Given the description of an element on the screen output the (x, y) to click on. 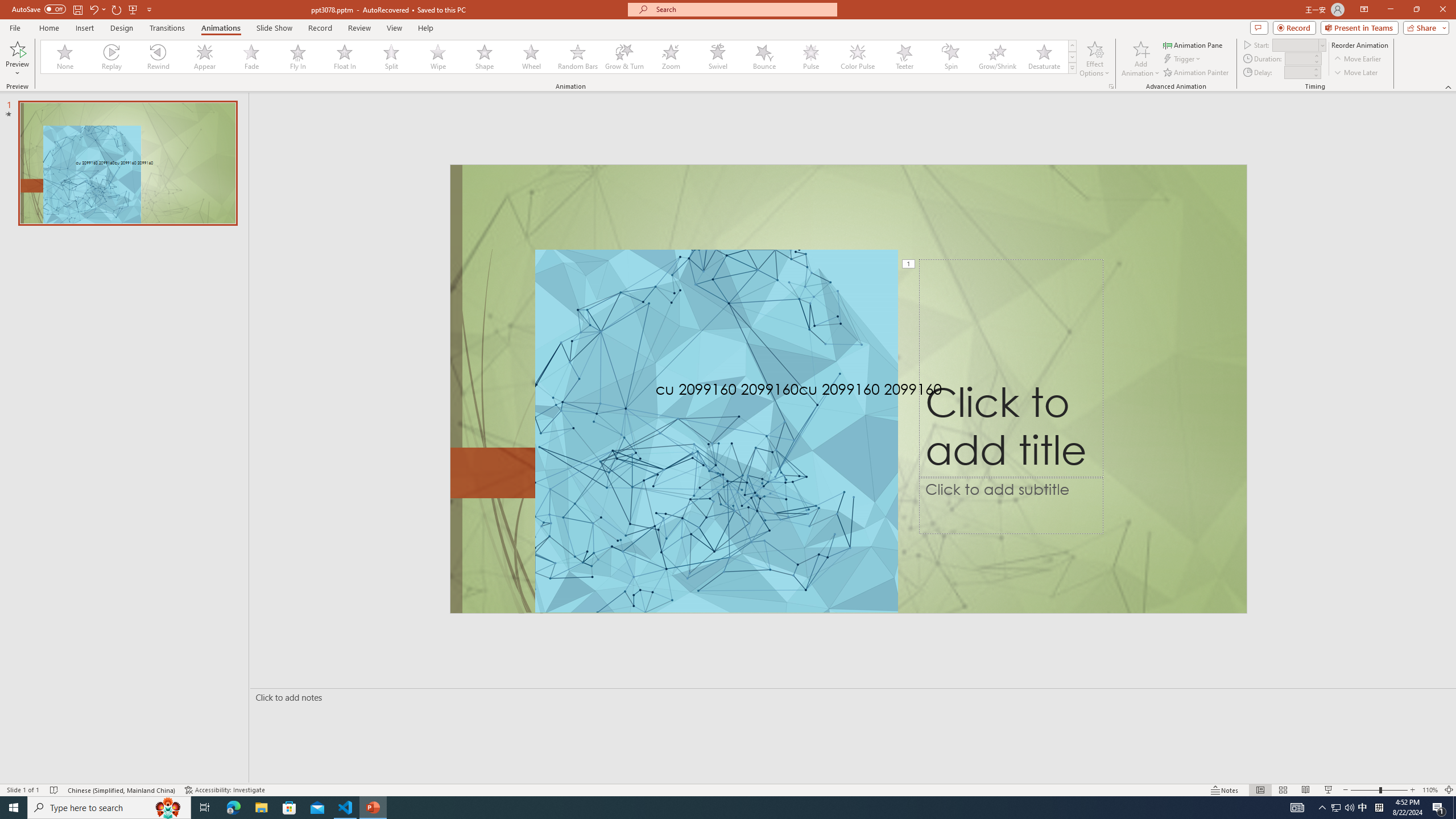
Float In (344, 56)
Animation Painter (1196, 72)
Move Later (1355, 72)
